Given the description of an element on the screen output the (x, y) to click on. 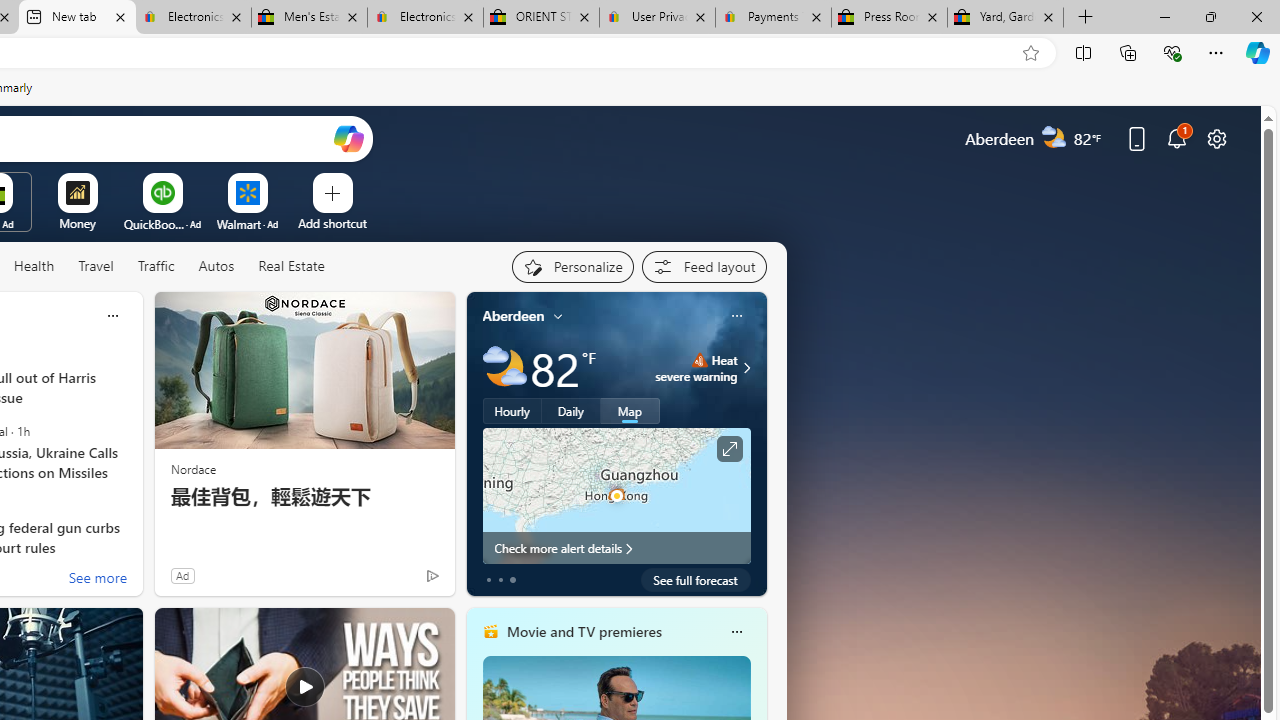
See full forecast (695, 579)
User Privacy Notice | eBay (657, 17)
Electronics, Cars, Fashion, Collectibles & More | eBay (424, 17)
Larger map  (616, 495)
Partly cloudy (504, 368)
Real Estate (291, 265)
Health (33, 267)
Feed settings (703, 266)
Partly cloudy (504, 368)
tab-2 (511, 579)
